Given the description of an element on the screen output the (x, y) to click on. 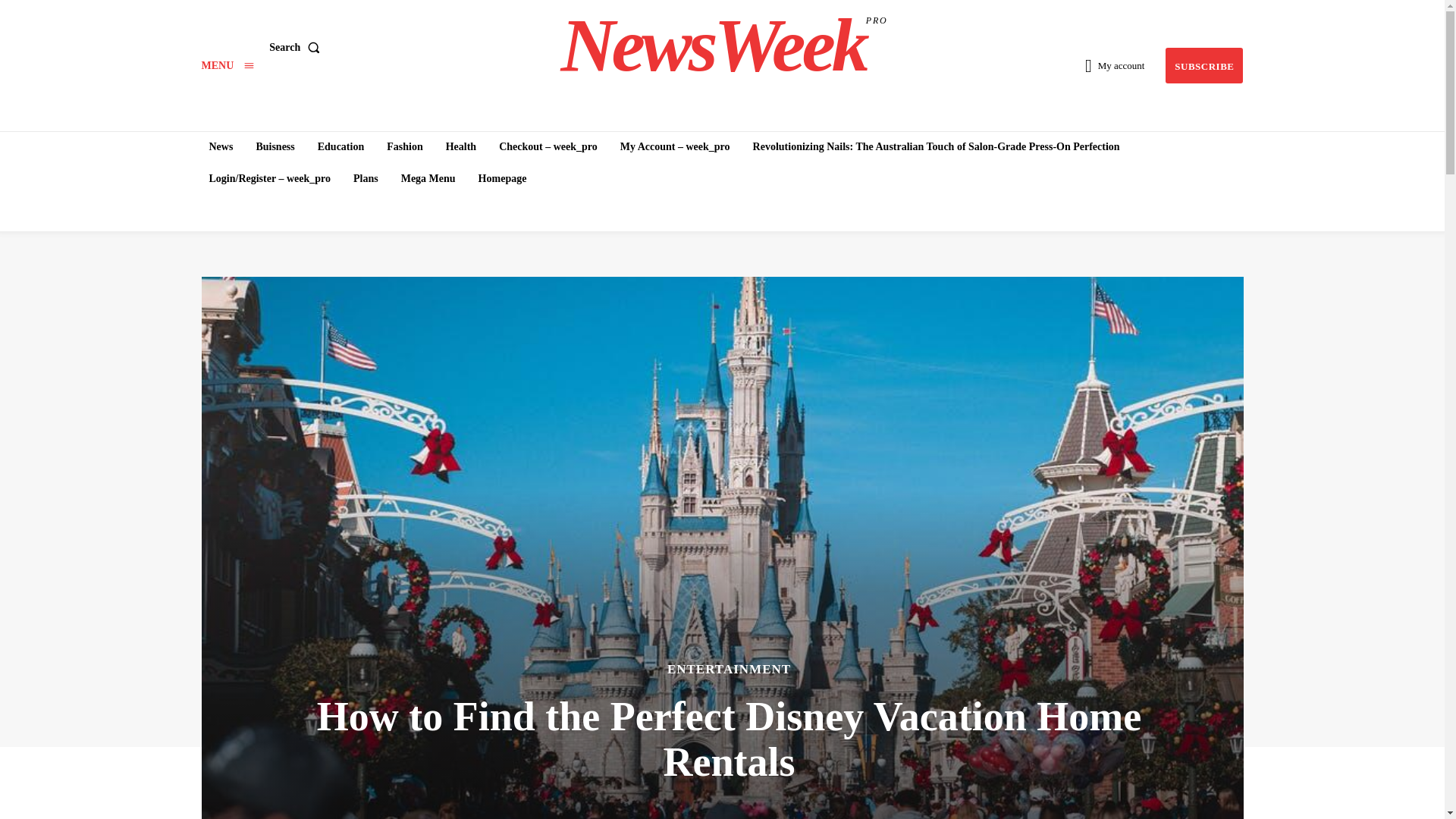
Health (460, 146)
Fashion (403, 146)
Education (724, 45)
Buisness (340, 146)
News (274, 146)
SUBSCRIBE (221, 146)
MENU (1204, 65)
Search (228, 65)
Plans (297, 47)
